Given the description of an element on the screen output the (x, y) to click on. 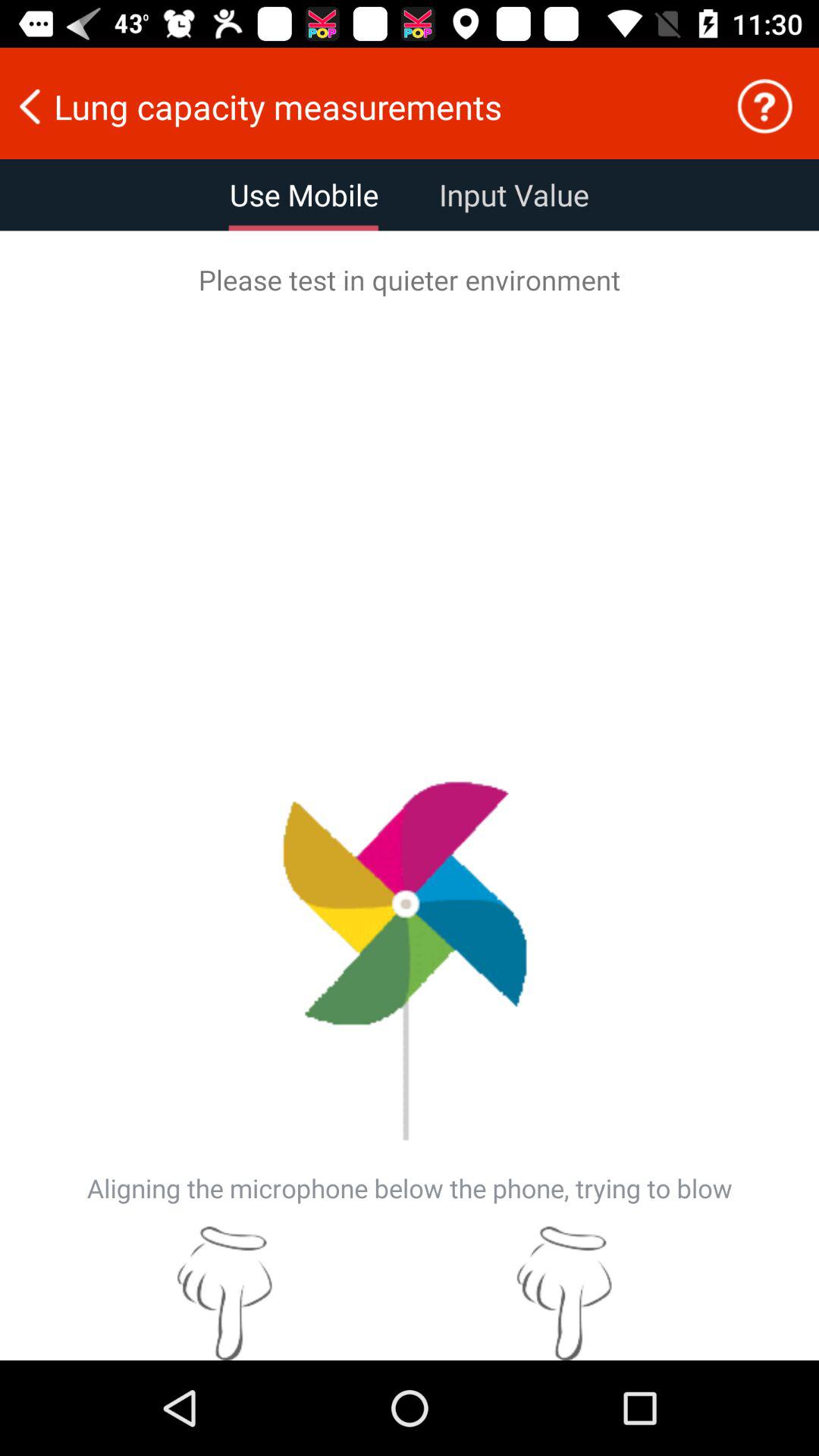
questions (764, 106)
